Given the description of an element on the screen output the (x, y) to click on. 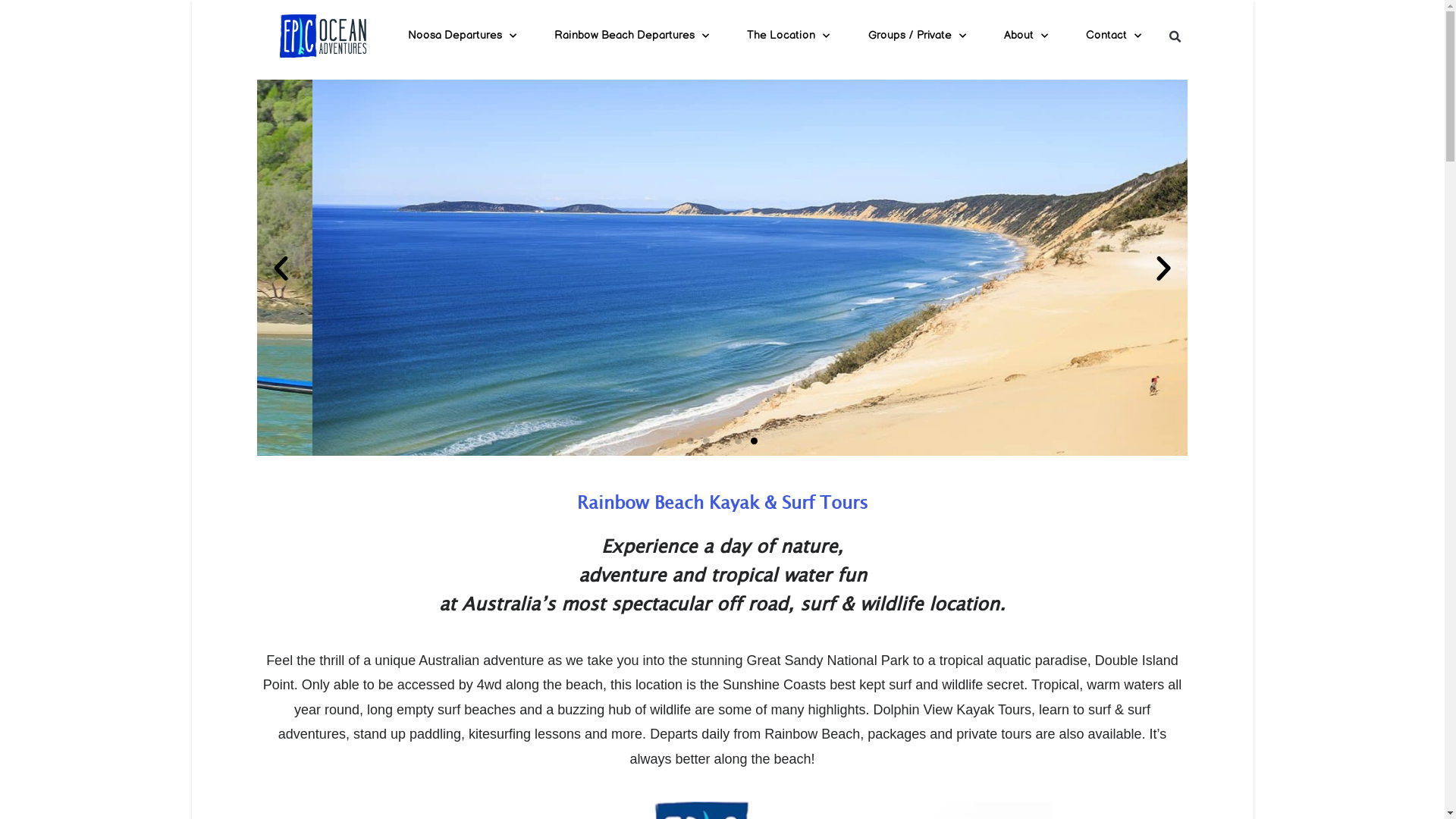
The Location Element type: text (788, 35)
About Element type: text (1025, 35)
Contact Element type: text (1113, 35)
Rainbow Beach Departures Element type: text (631, 35)
Noosa Departures Element type: text (461, 35)
Groups / Private Element type: text (917, 35)
